Given the description of an element on the screen output the (x, y) to click on. 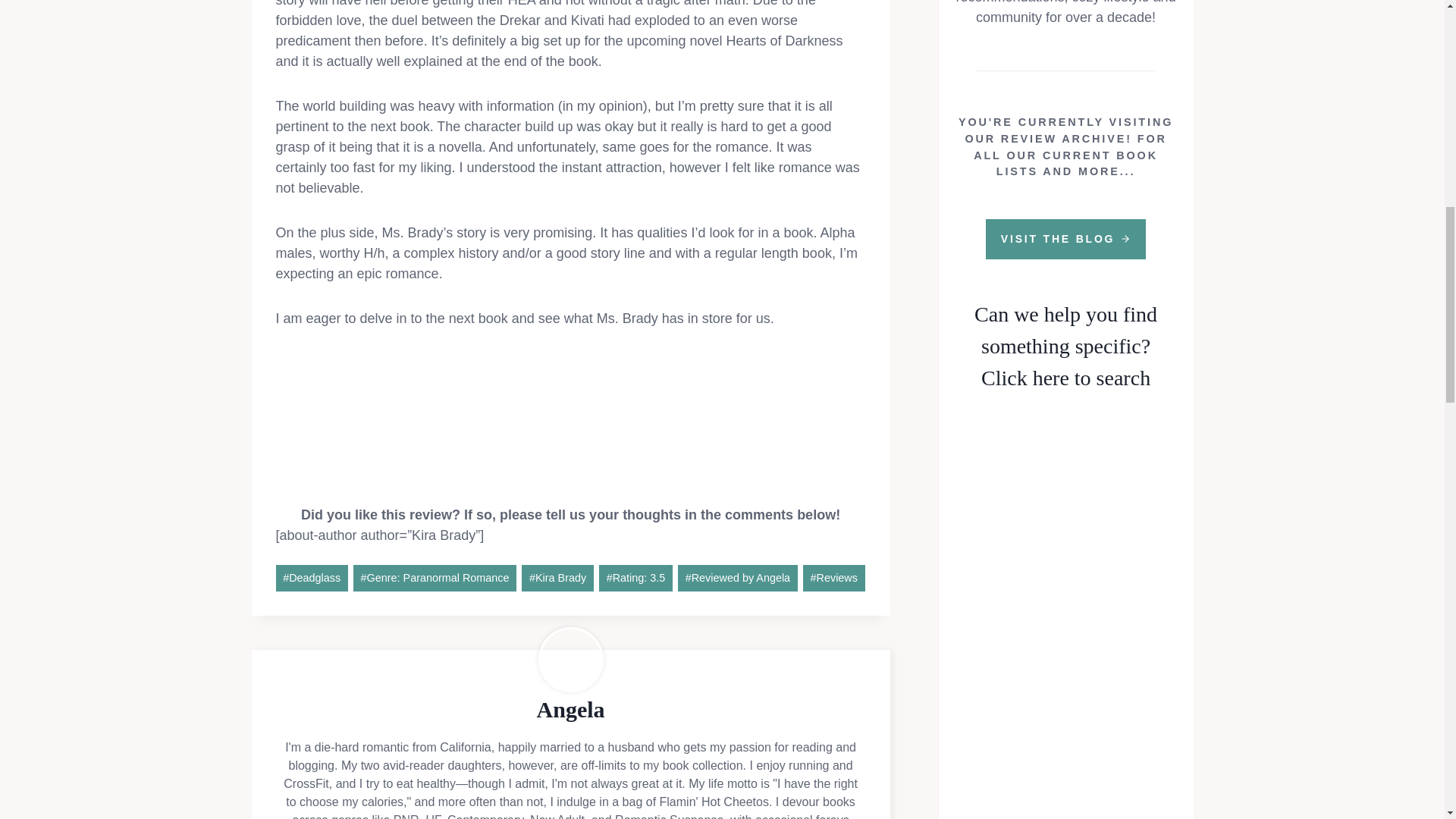
Reviewed by Angela (737, 578)
Genre: Paranormal Romance (434, 578)
Posts by Angela (571, 708)
Angela (571, 708)
Kira Brady (556, 578)
Deadglass (311, 578)
Rating: 3.5 (635, 578)
Reviews (833, 578)
